Given the description of an element on the screen output the (x, y) to click on. 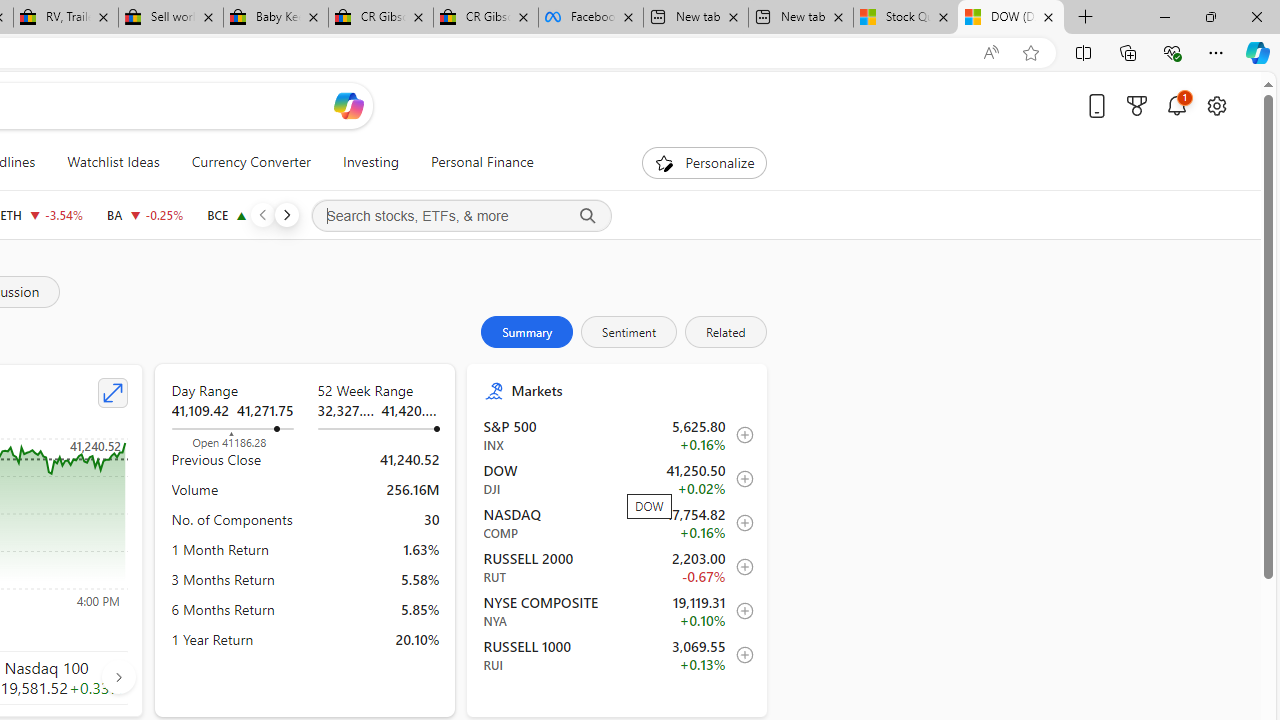
Watchlist Ideas (113, 162)
Summary (527, 331)
INX S&P 500 increase 5,625.80 +8.96 +0.16% itemundefined (617, 435)
BA THE BOEING COMPANY decrease 173.05 -0.43 -0.25% (144, 214)
Investing (370, 162)
COMP NASDAQ increase 17,754.82 +29.06 +0.16% itemundefined (617, 523)
Watchlist Ideas (113, 162)
Markets (630, 390)
